Given the description of an element on the screen output the (x, y) to click on. 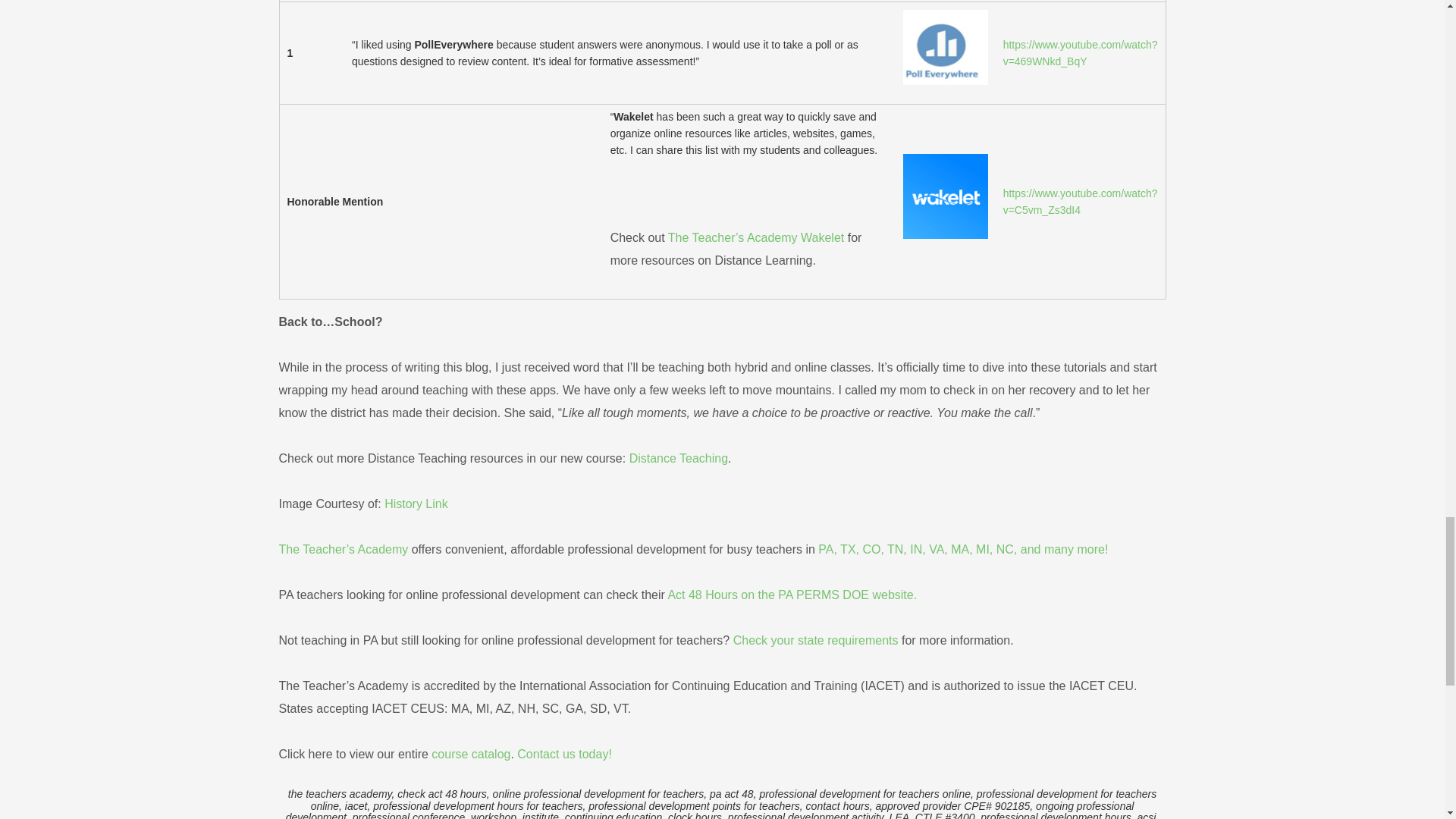
History Link (416, 503)
Distance Teaching (678, 458)
